Given the description of an element on the screen output the (x, y) to click on. 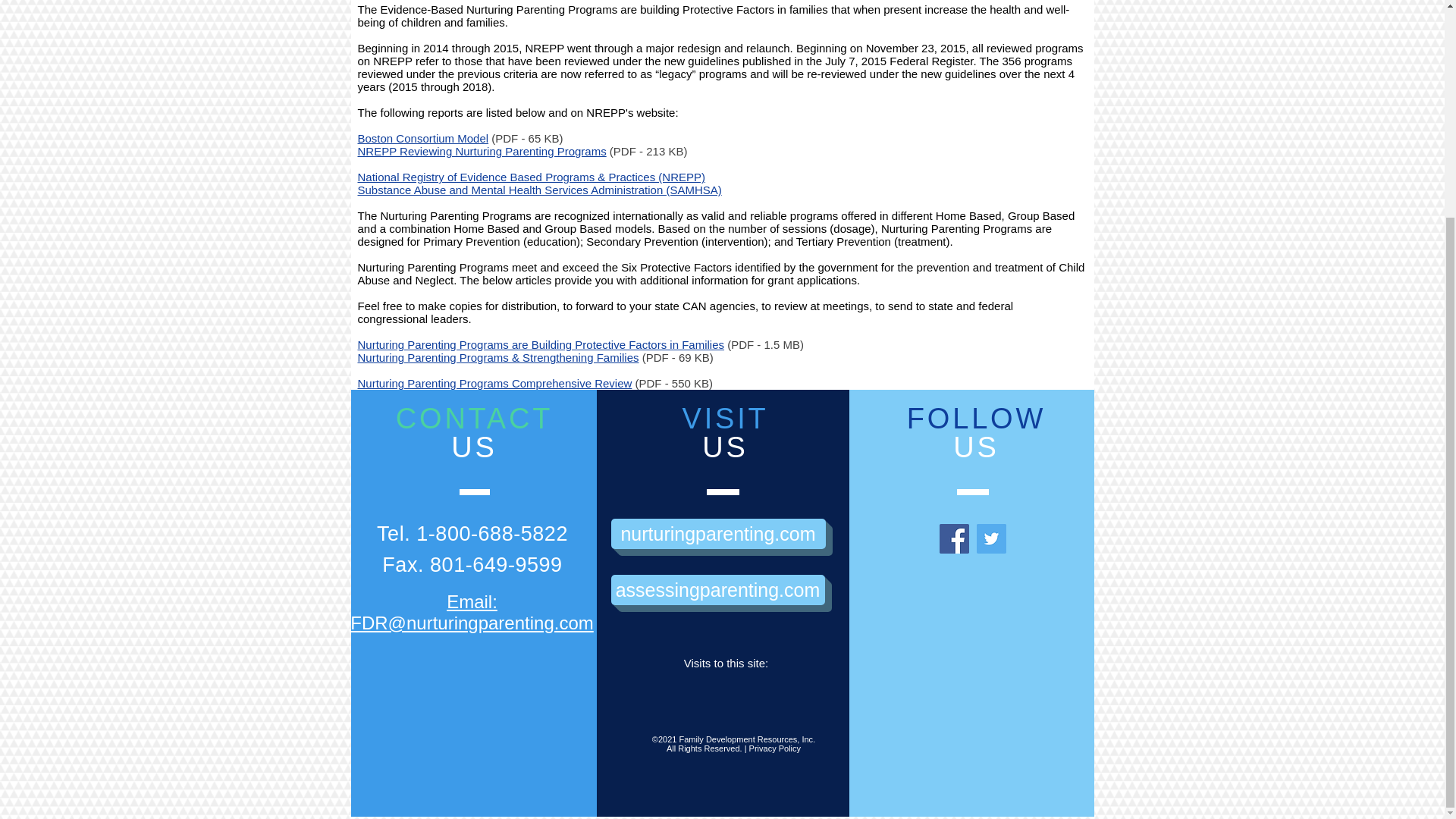
assessingparenting.com (718, 589)
nurturingparenting.com (718, 533)
Boston Consortium Model (423, 137)
Nurturing Parenting Programs Comprehensive Review (494, 382)
NREPP Reviewing Nurturing Parenting Programs (482, 151)
